Given the description of an element on the screen output the (x, y) to click on. 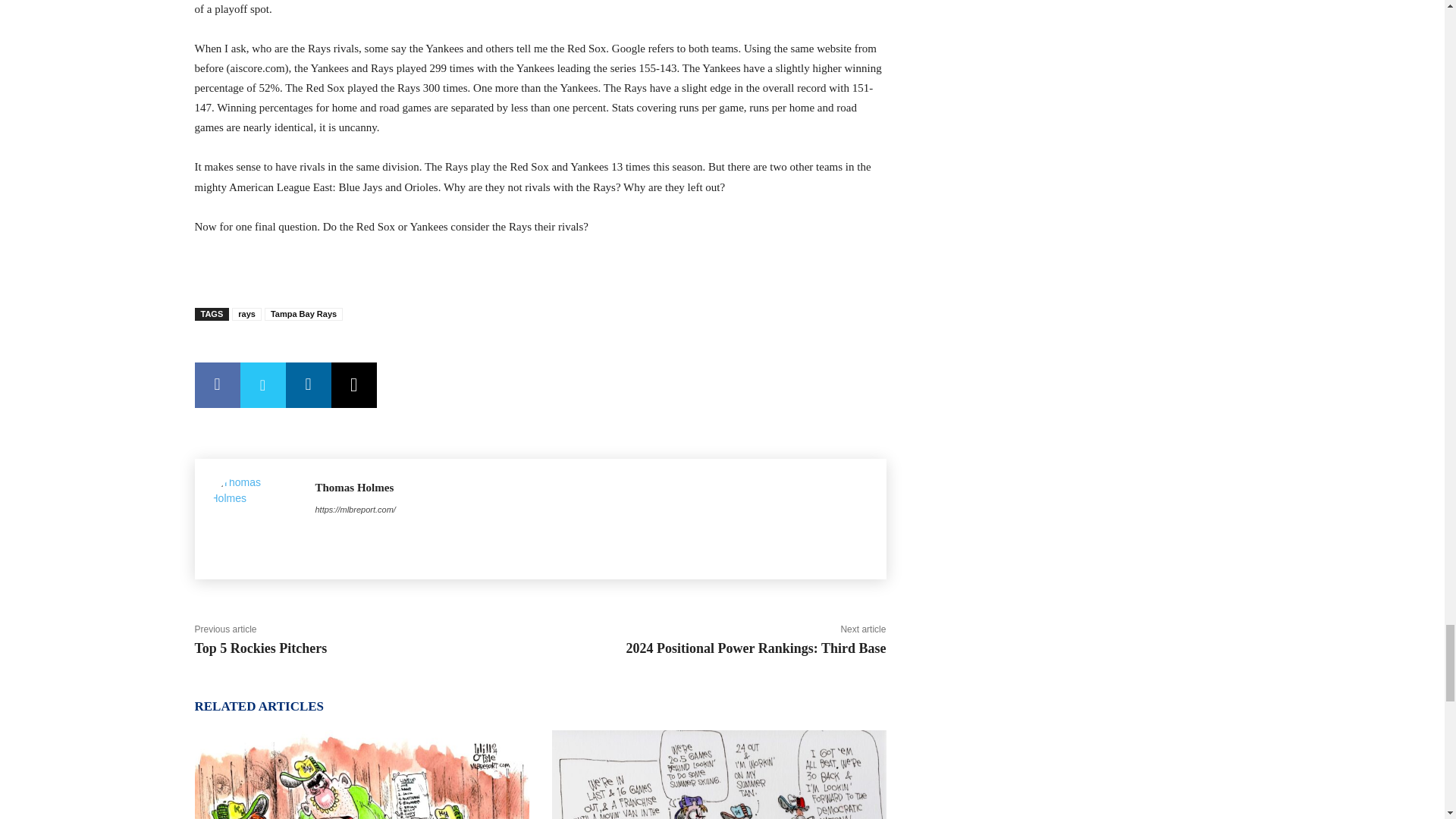
Tampa Bay Rays (303, 314)
Top 5 Rockies Pitchers (259, 648)
rays (246, 314)
2024 Positional Power Rankings: Third Base (756, 648)
Thomas Holmes (355, 487)
